Given the description of an element on the screen output the (x, y) to click on. 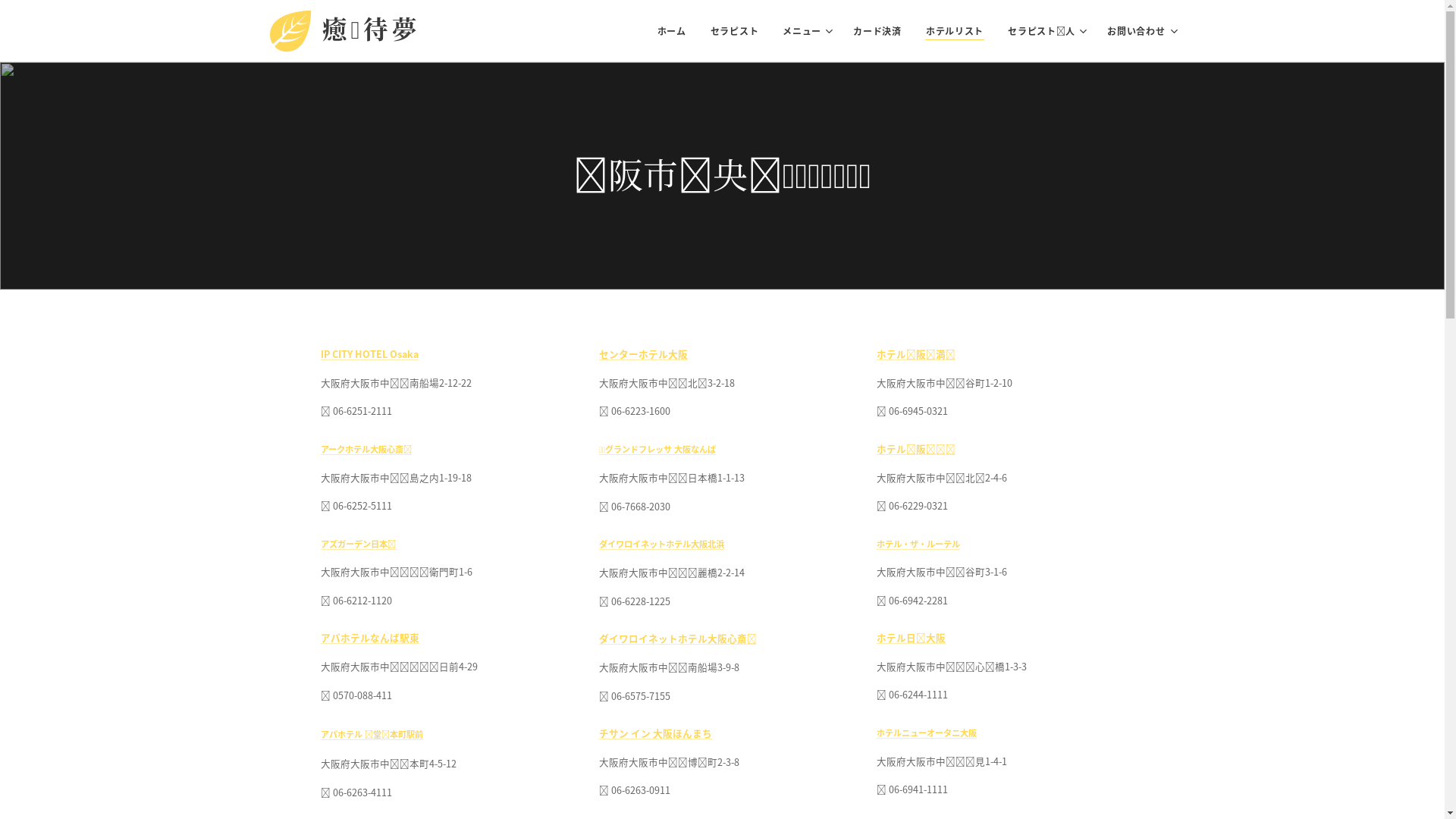
IP CITY HOTEL Osaka Element type: text (368, 353)
